Given the description of an element on the screen output the (x, y) to click on. 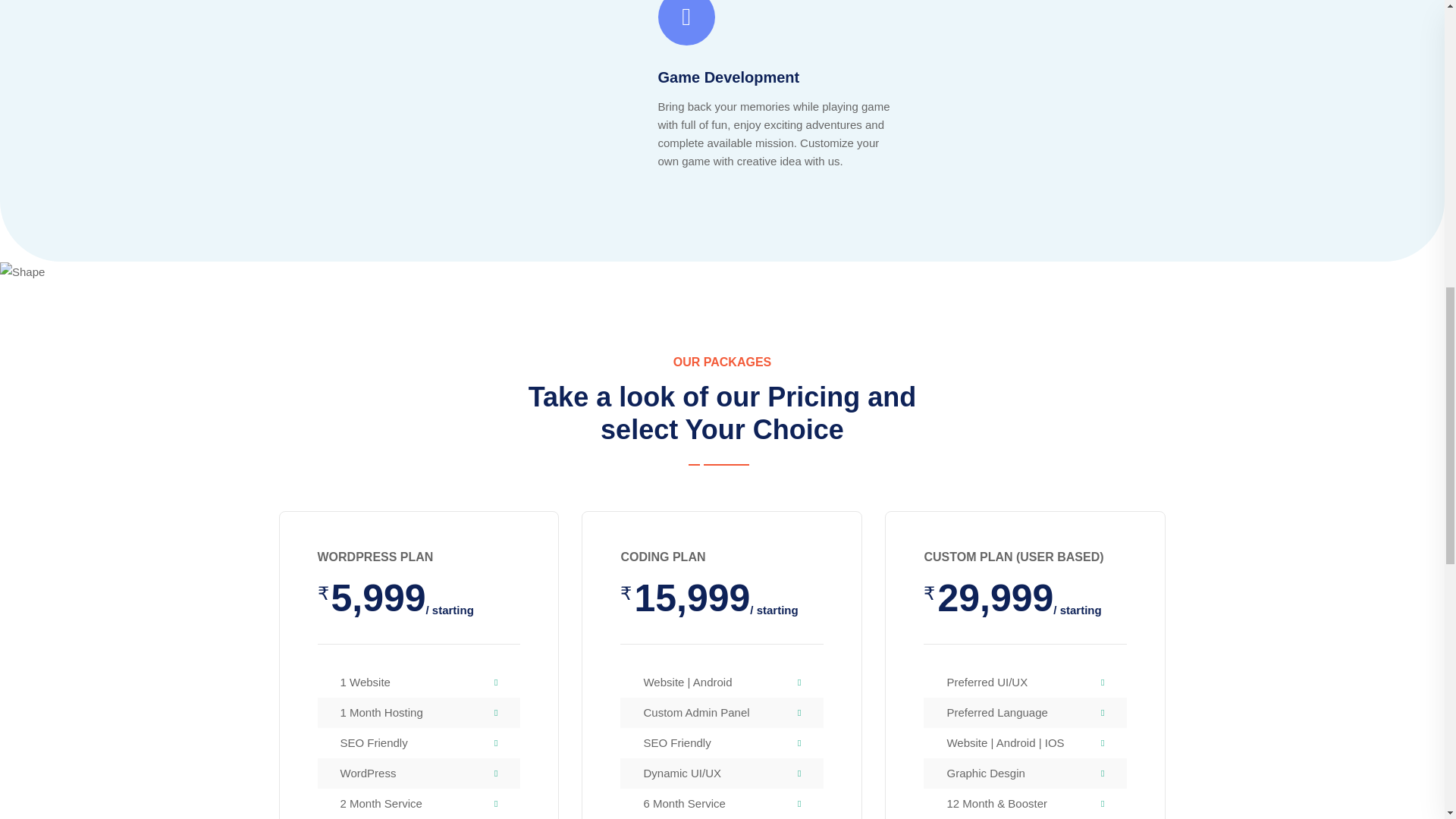
Game Development (728, 76)
